Given the description of an element on the screen output the (x, y) to click on. 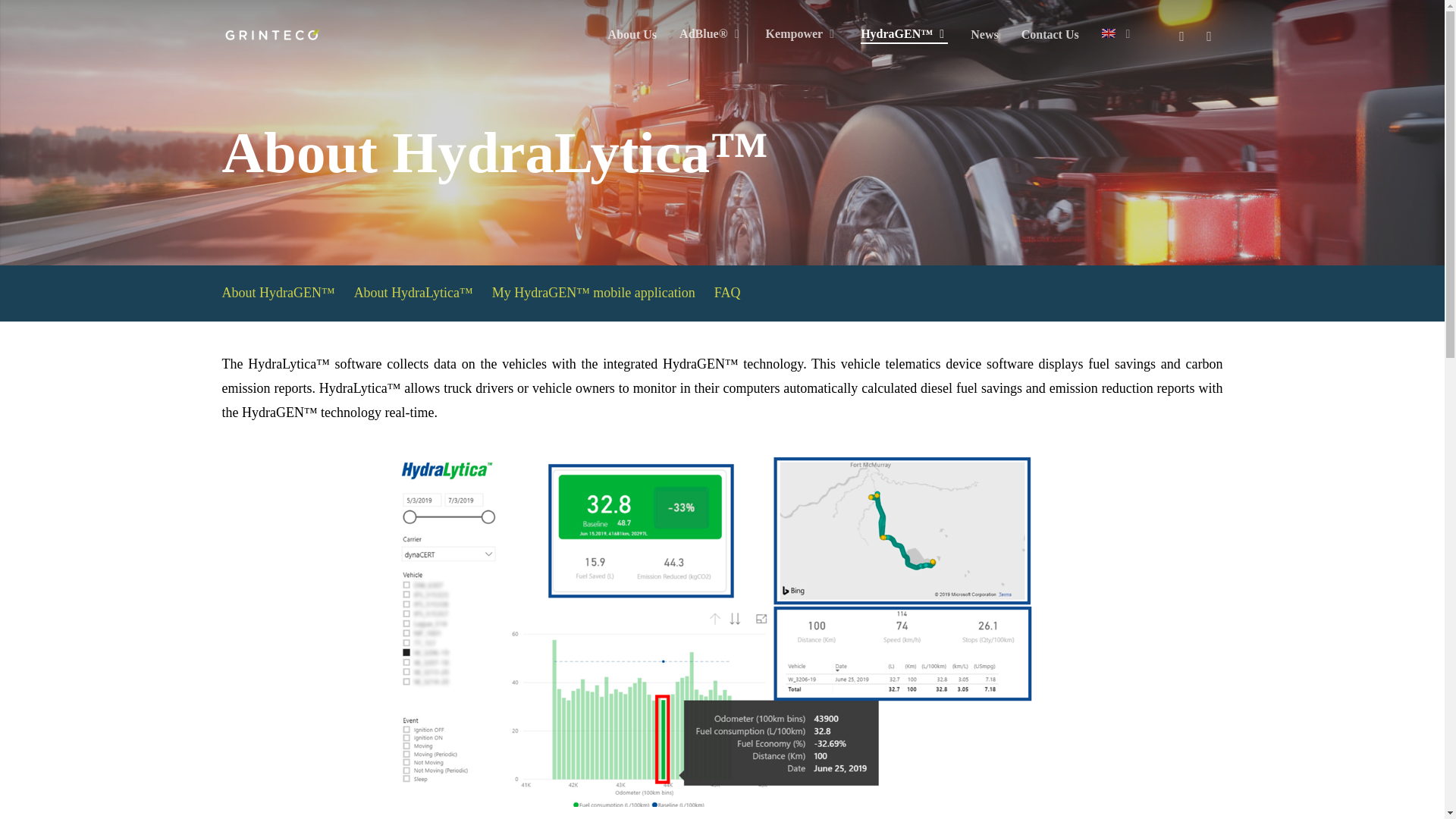
English (1108, 32)
Kempower (801, 33)
Contact Us (1050, 34)
News (984, 34)
About Us (632, 34)
